Given the description of an element on the screen output the (x, y) to click on. 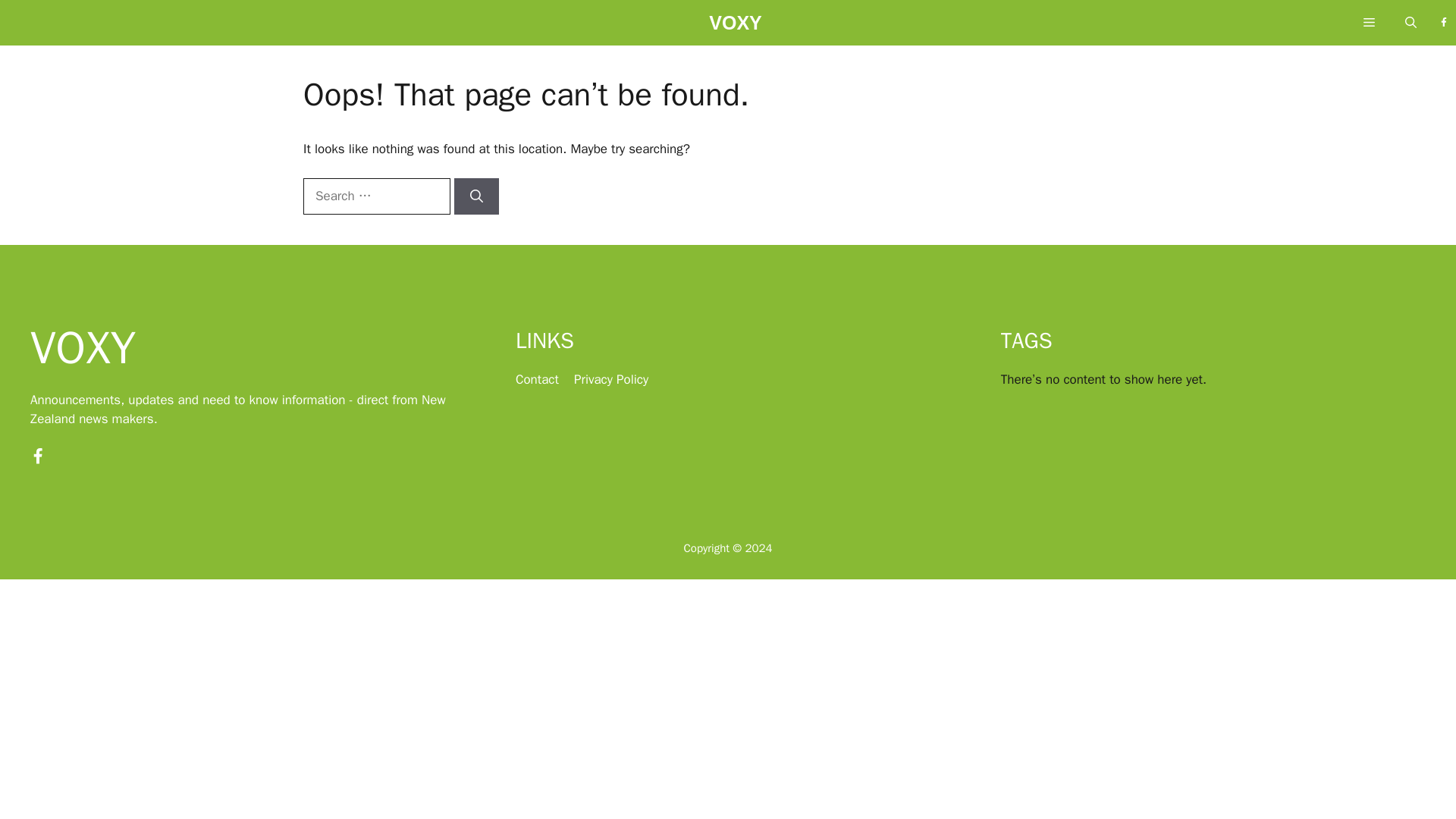
Search for: (375, 196)
Privacy Policy (610, 379)
Contact (537, 379)
VOXY (735, 26)
